Given the description of an element on the screen output the (x, y) to click on. 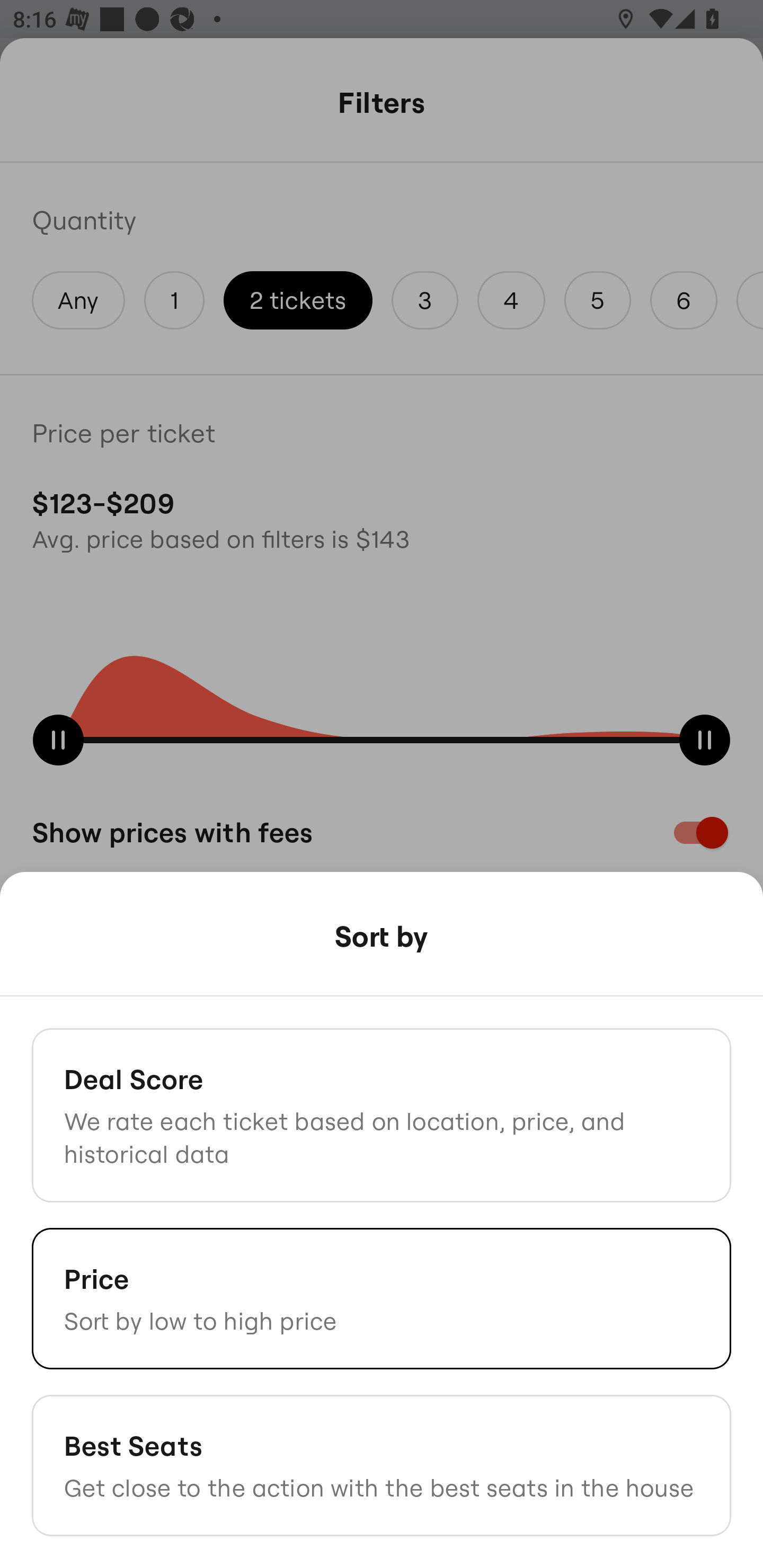
Price Sort by low to high price (381, 1297)
